Given the description of an element on the screen output the (x, y) to click on. 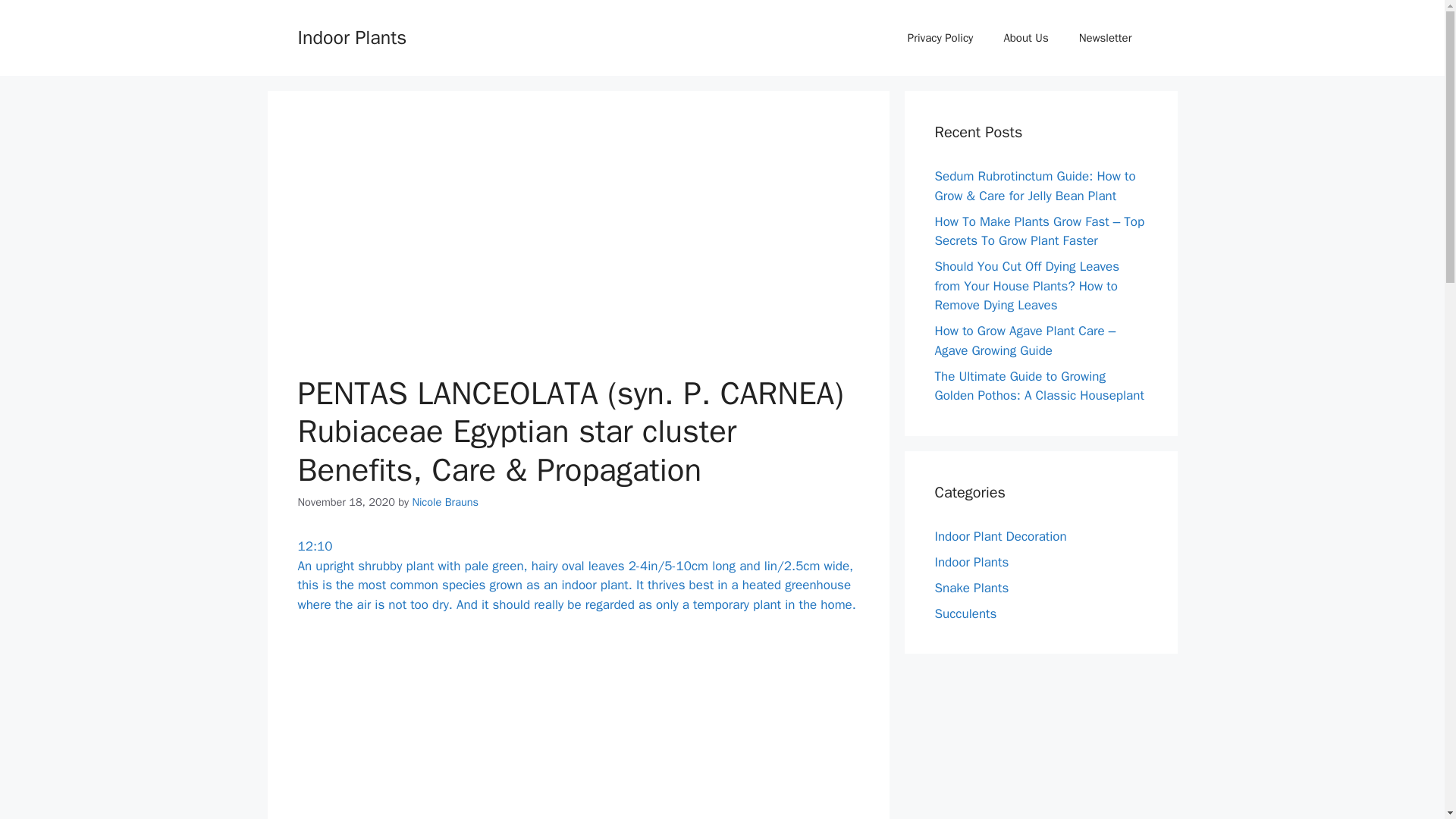
permanent link (314, 546)
Succulents (964, 612)
About Us (1025, 37)
Nicole Brauns (445, 501)
Indoor Plant Decoration (999, 535)
Indoor Plants (971, 561)
Indoor Plants (351, 37)
12:10 (314, 546)
View all posts by Nicole Brauns (445, 501)
Newsletter (1105, 37)
Snake Plants (971, 587)
Privacy Policy (940, 37)
